Given the description of an element on the screen output the (x, y) to click on. 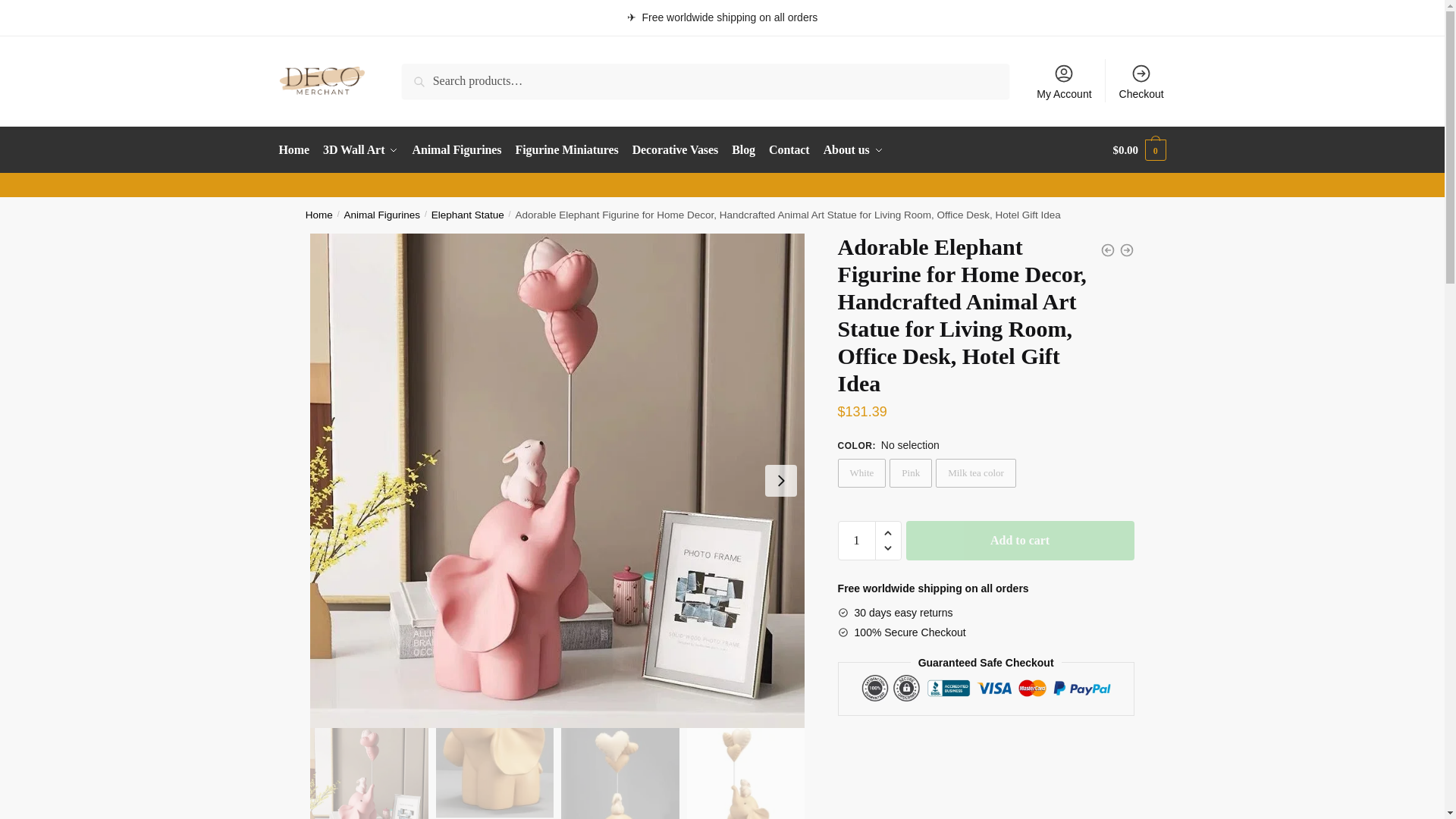
3D Wall Art (359, 149)
Se86ae70e94214ad99ccc59272b5d8c63q.webp (619, 773)
S6dabe4fb57a34d9f9b574bef1ad667fey.webp (494, 773)
Elephant Statue (466, 214)
Animal Figurines (381, 214)
Decorative Vases (675, 149)
1 (857, 540)
Figurine Miniatures (567, 149)
My Account (1063, 80)
About us (852, 149)
View your shopping cart (1139, 149)
Contact (788, 149)
Sddeb08f59fce42d6815f7c96cde7f72bZ.webp (746, 773)
Search (422, 74)
